Given the description of an element on the screen output the (x, y) to click on. 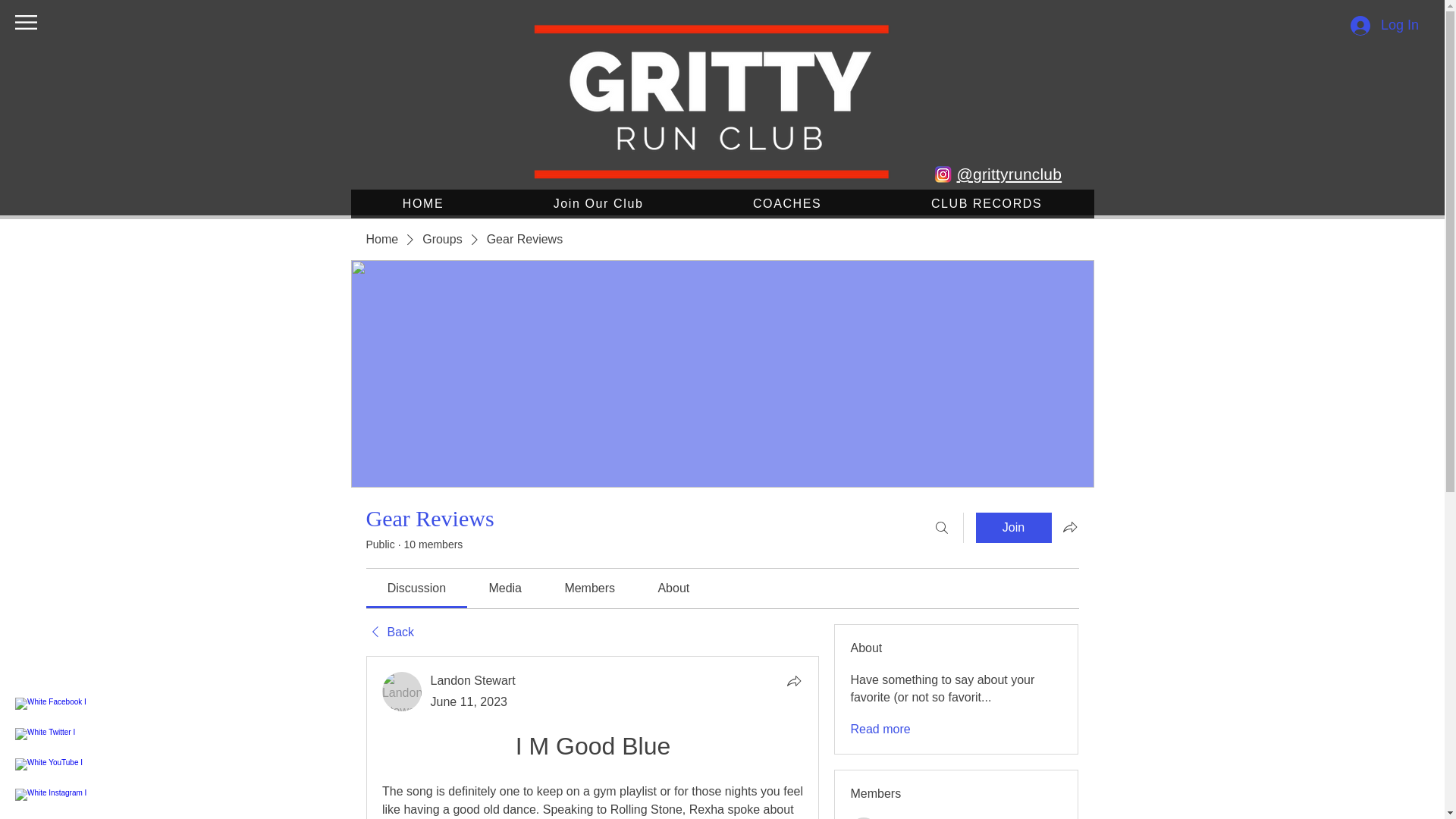
richardnixon92 (863, 818)
Groups (441, 239)
Join (1013, 527)
Read more (880, 729)
HOME (422, 203)
Join Our Club (597, 203)
CLUB RECORDS (986, 203)
Log In (1384, 24)
June 11, 2023 (468, 701)
Back (389, 632)
